Given the description of an element on the screen output the (x, y) to click on. 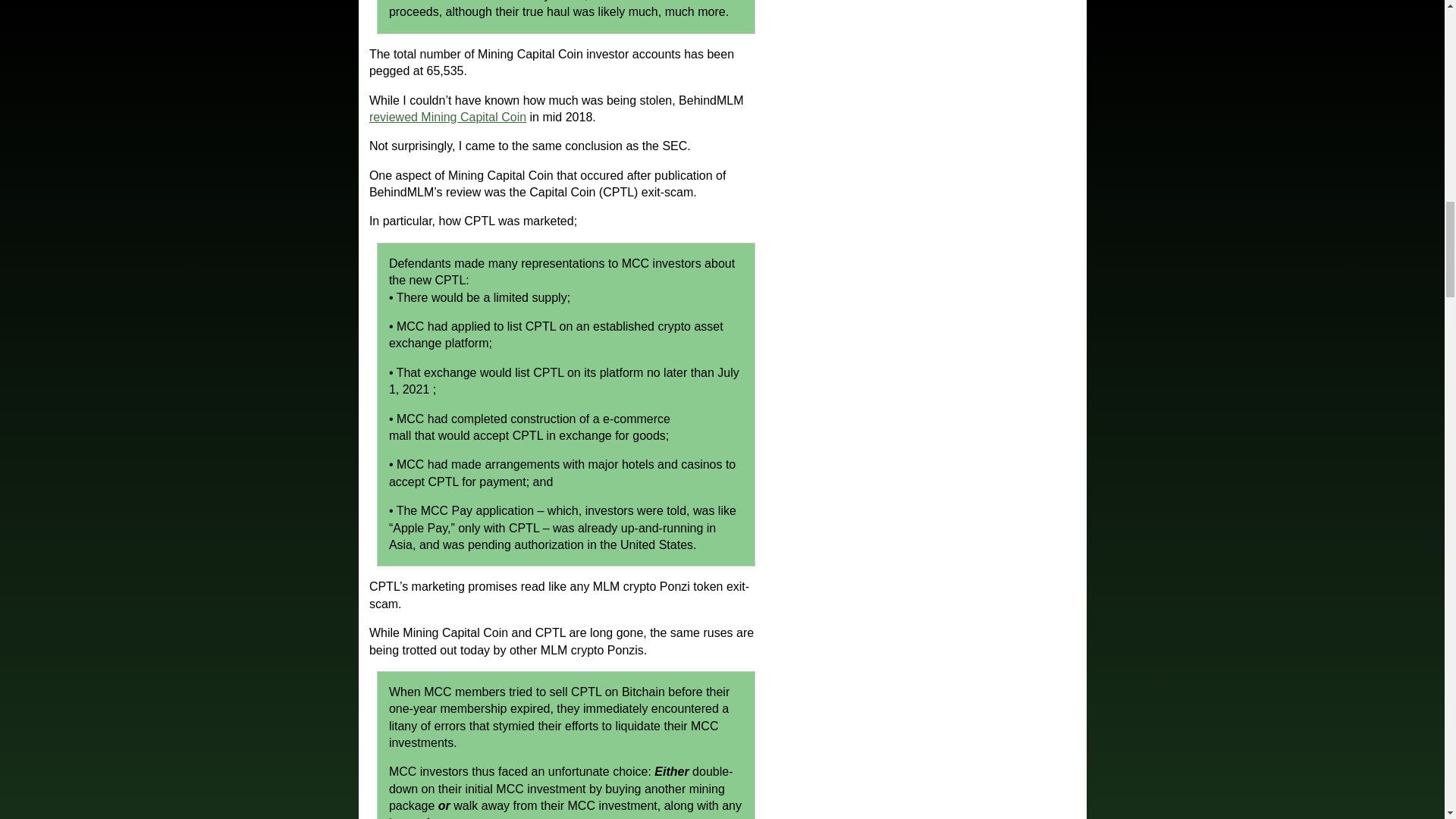
reviewed Mining Capital Coin (447, 116)
